Given the description of an element on the screen output the (x, y) to click on. 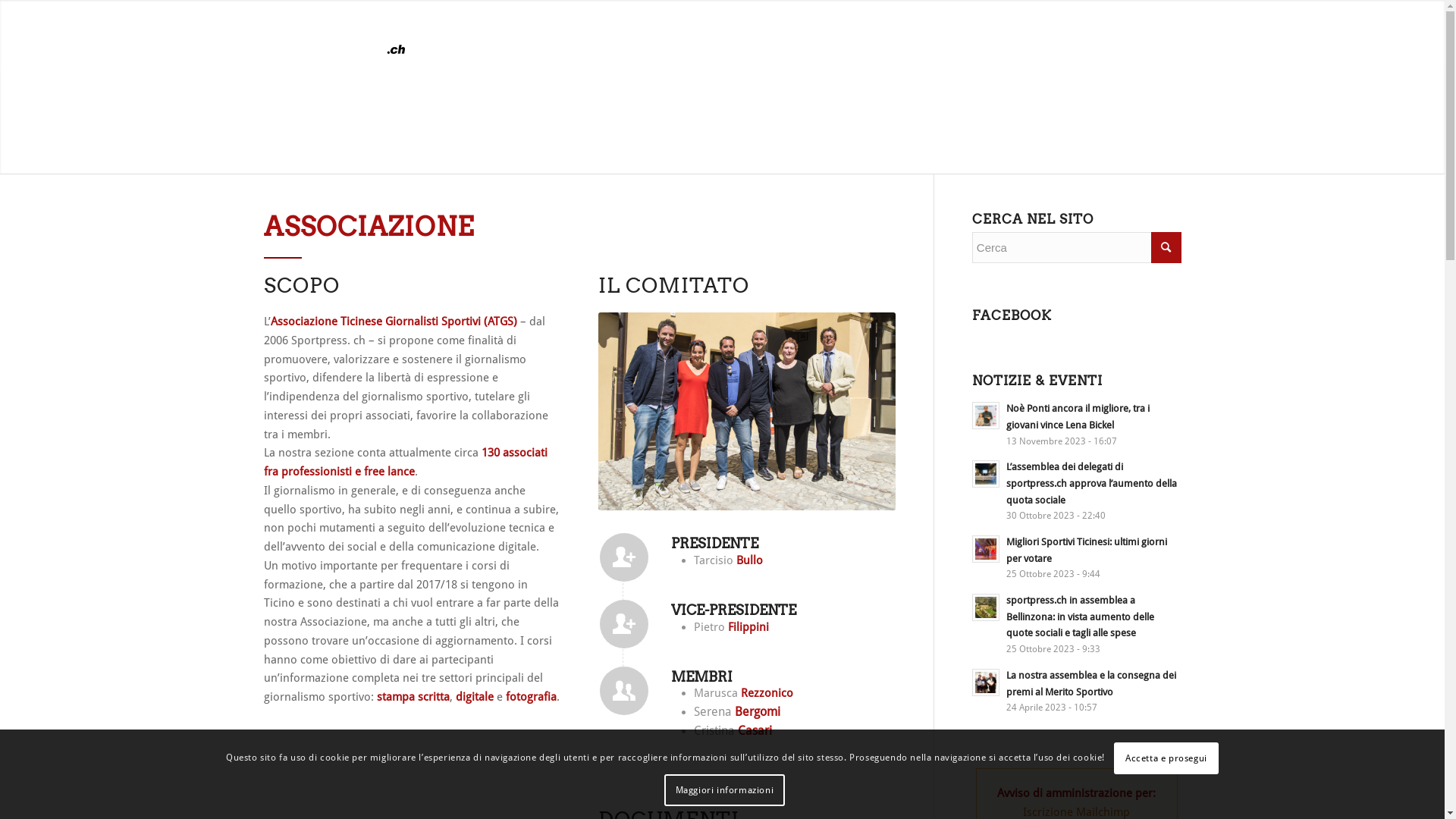
atgs-logo Element type: hover (337, 34)
PREMI Element type: text (780, 34)
Leggi: Migliori Sportivi Ticinesi: ultimi giorni per votare Element type: hover (985, 548)
CONTATTO Element type: text (928, 34)
Twitter Element type: hover (1146, 32)
NOTIZIE Element type: text (643, 34)
ASSOCIAZIONE Element type: text (565, 34)
Facebook Element type: hover (1124, 32)
Accetta e prosegui Element type: text (1165, 758)
BACHECA Element type: text (711, 34)
MEMBRI Element type: text (998, 34)
SOSTENITORI Element type: text (854, 34)
Migliori Sportivi Ticinesi: ultimi giorni per votare Element type: text (1086, 550)
Mail Element type: hover (1169, 32)
Maggiori informazioni Element type: text (724, 790)
